Given the description of an element on the screen output the (x, y) to click on. 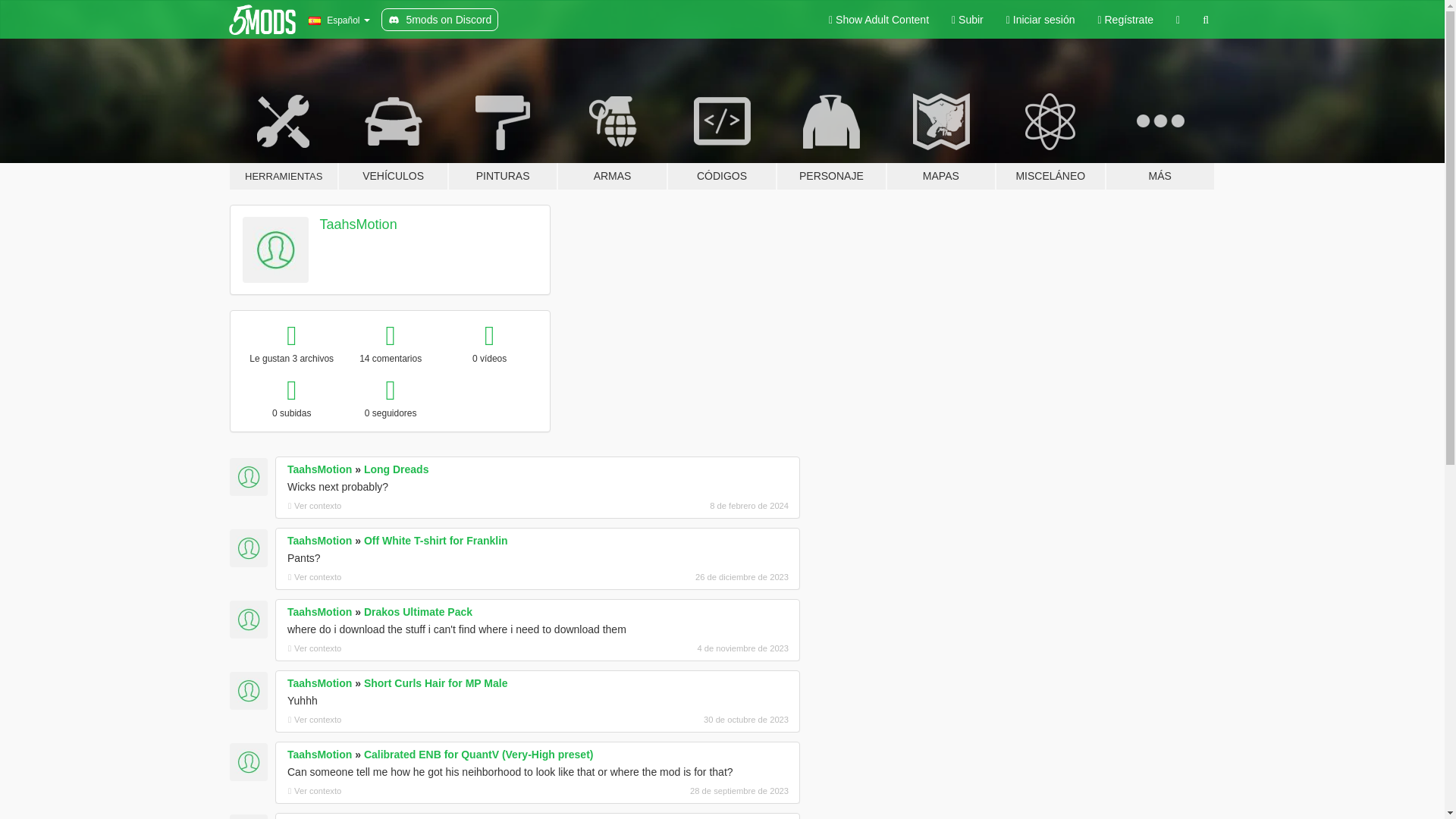
Show Adult Content (878, 19)
5mods on Discord (439, 19)
Light mode (878, 19)
Subir (967, 19)
